Given the description of an element on the screen output the (x, y) to click on. 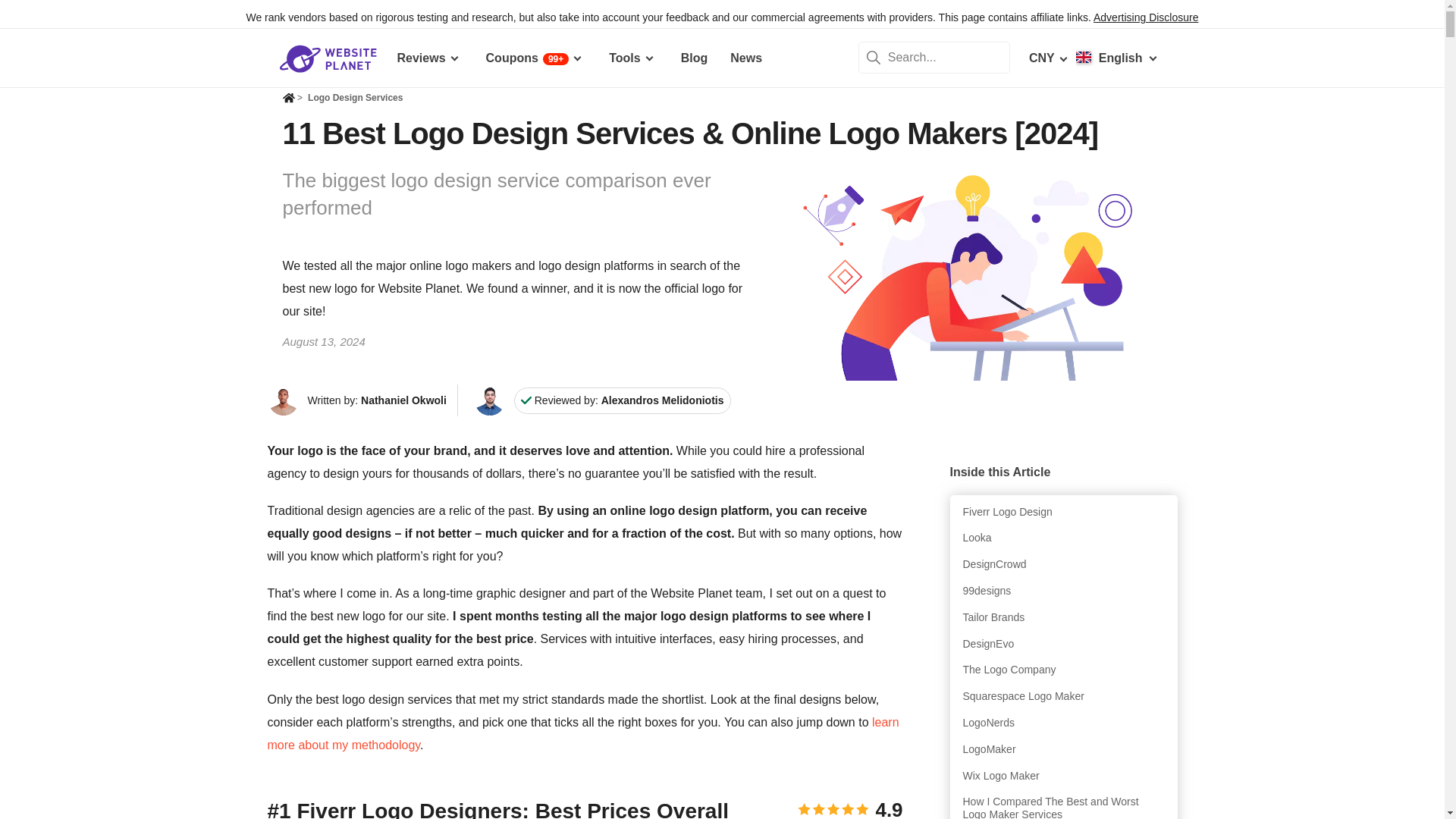
Advertising Disclosure (1145, 17)
Search (873, 57)
Search (873, 57)
